Given the description of an element on the screen output the (x, y) to click on. 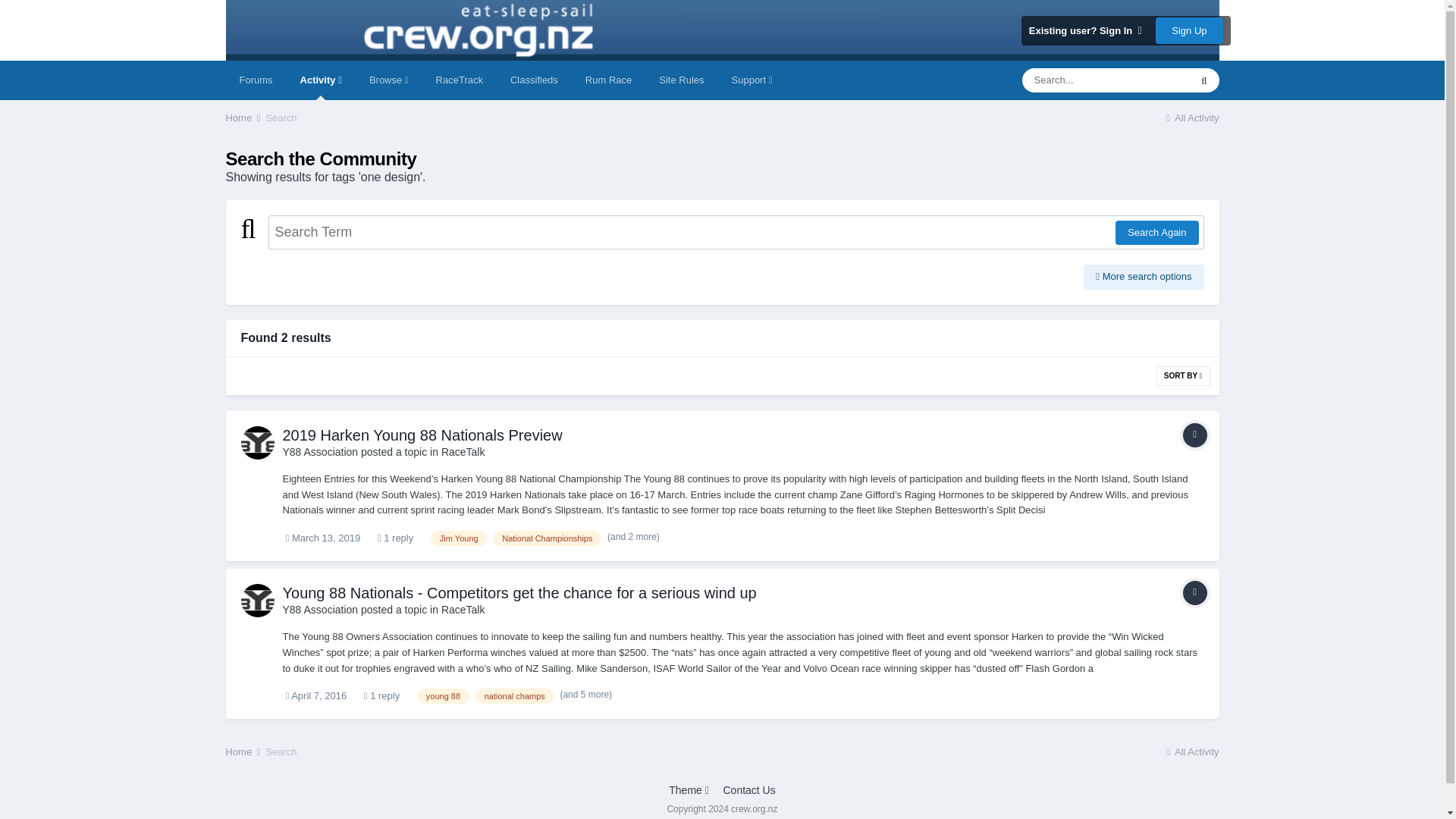
Browse (388, 79)
Site Rules (681, 79)
Home (244, 117)
Home (244, 117)
Forums (255, 79)
Find other content tagged with 'young 88' (442, 695)
Support (751, 79)
Topic (1194, 435)
All Activity (1190, 117)
Activity (320, 79)
Rum Race (608, 79)
Go to Y88 Association's profile (258, 442)
Go to Y88 Association's profile (320, 451)
RaceTrack (459, 79)
Topic (1194, 592)
